Given the description of an element on the screen output the (x, y) to click on. 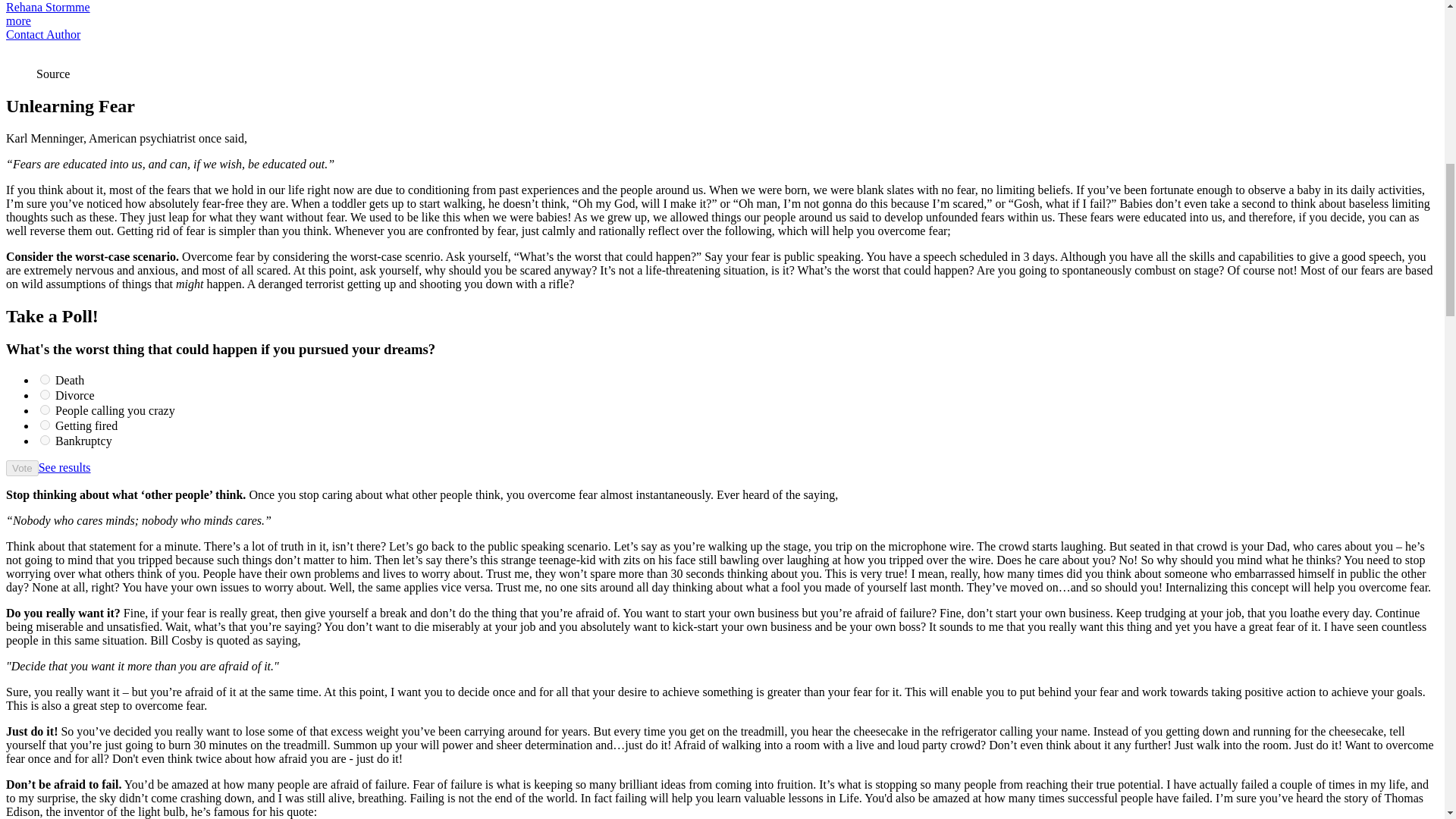
2 (44, 409)
3 (44, 424)
0 (44, 379)
Contact Author (42, 33)
Vote (22, 467)
See results (64, 467)
4 (44, 439)
1 (44, 394)
